Given the description of an element on the screen output the (x, y) to click on. 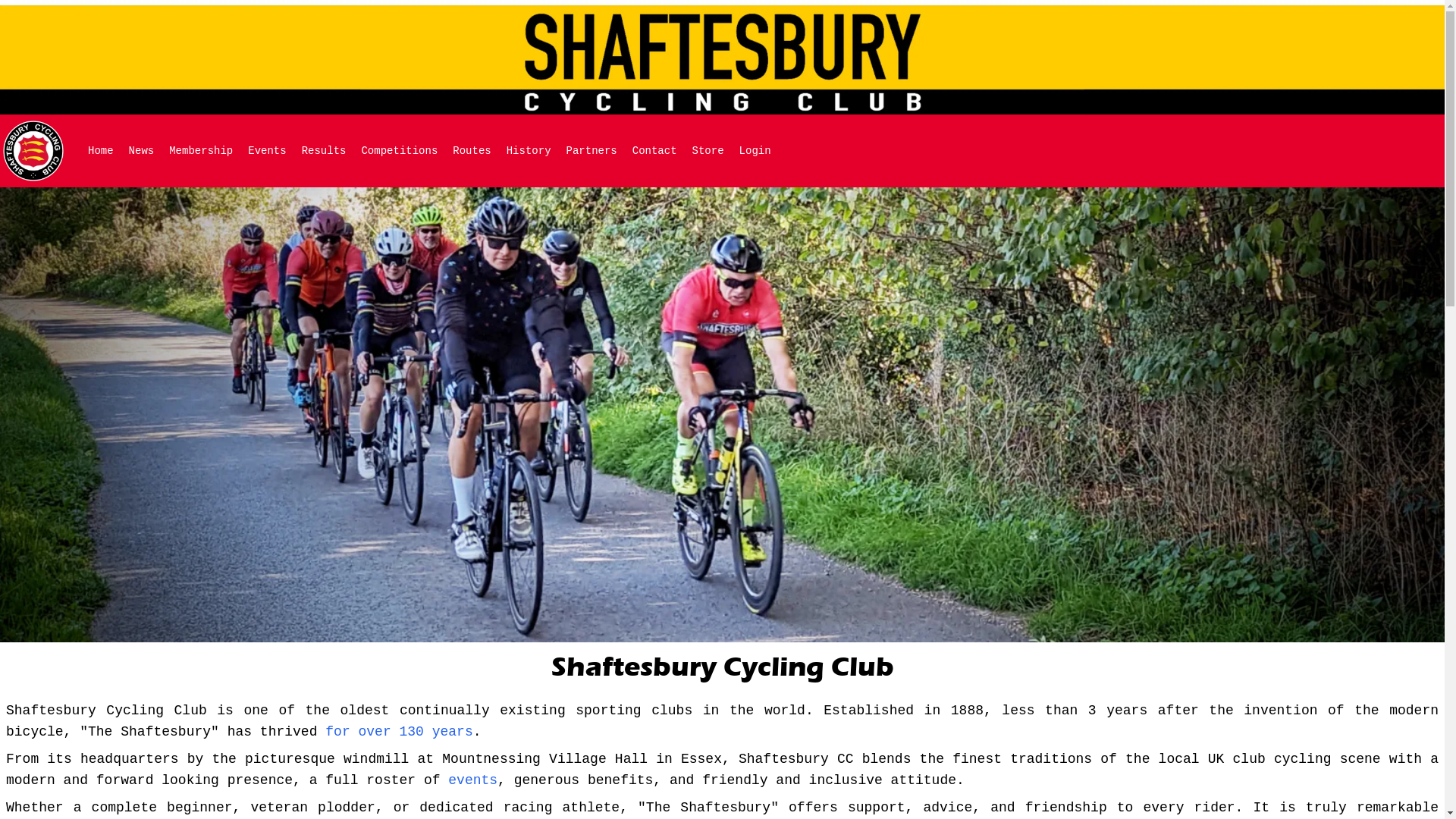
History Element type: text (528, 150)
Results Element type: text (323, 150)
Contact Element type: text (654, 150)
for over 130 years Element type: text (398, 731)
Partners Element type: text (591, 150)
Competitions Element type: text (398, 150)
Routes Element type: text (471, 150)
News Element type: text (141, 150)
events Element type: text (472, 779)
Store Element type: text (708, 150)
Home Element type: text (100, 150)
Events Element type: text (266, 150)
Login Element type: text (755, 150)
Membership Element type: text (200, 150)
